Given the description of an element on the screen output the (x, y) to click on. 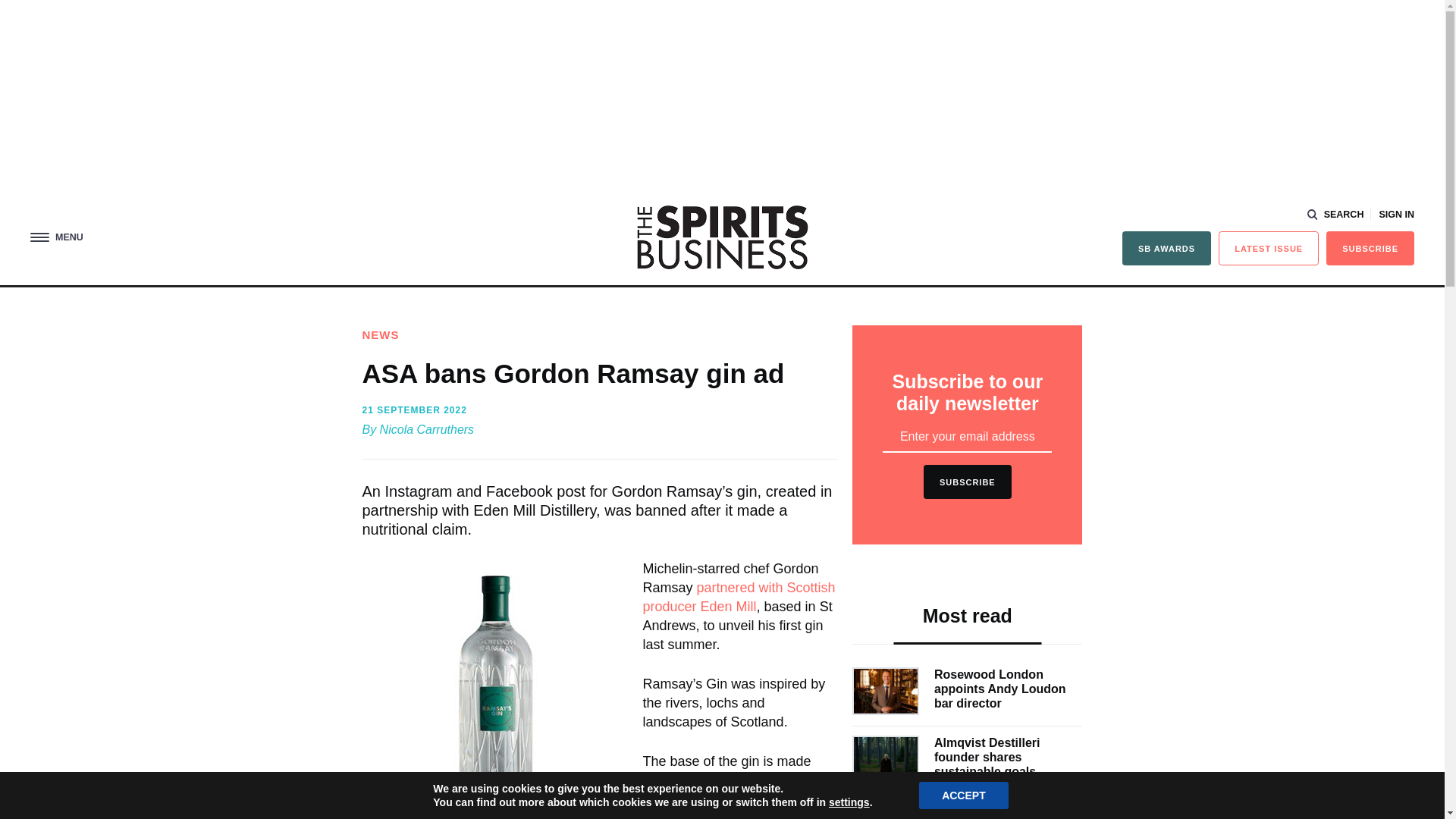
SEARCH (1335, 214)
The Spirits Business (722, 237)
LATEST ISSUE (1268, 247)
SB AWARDS (1166, 247)
SUBSCRIBE (1369, 247)
SIGN IN (1395, 214)
MENU (56, 237)
